Given the description of an element on the screen output the (x, y) to click on. 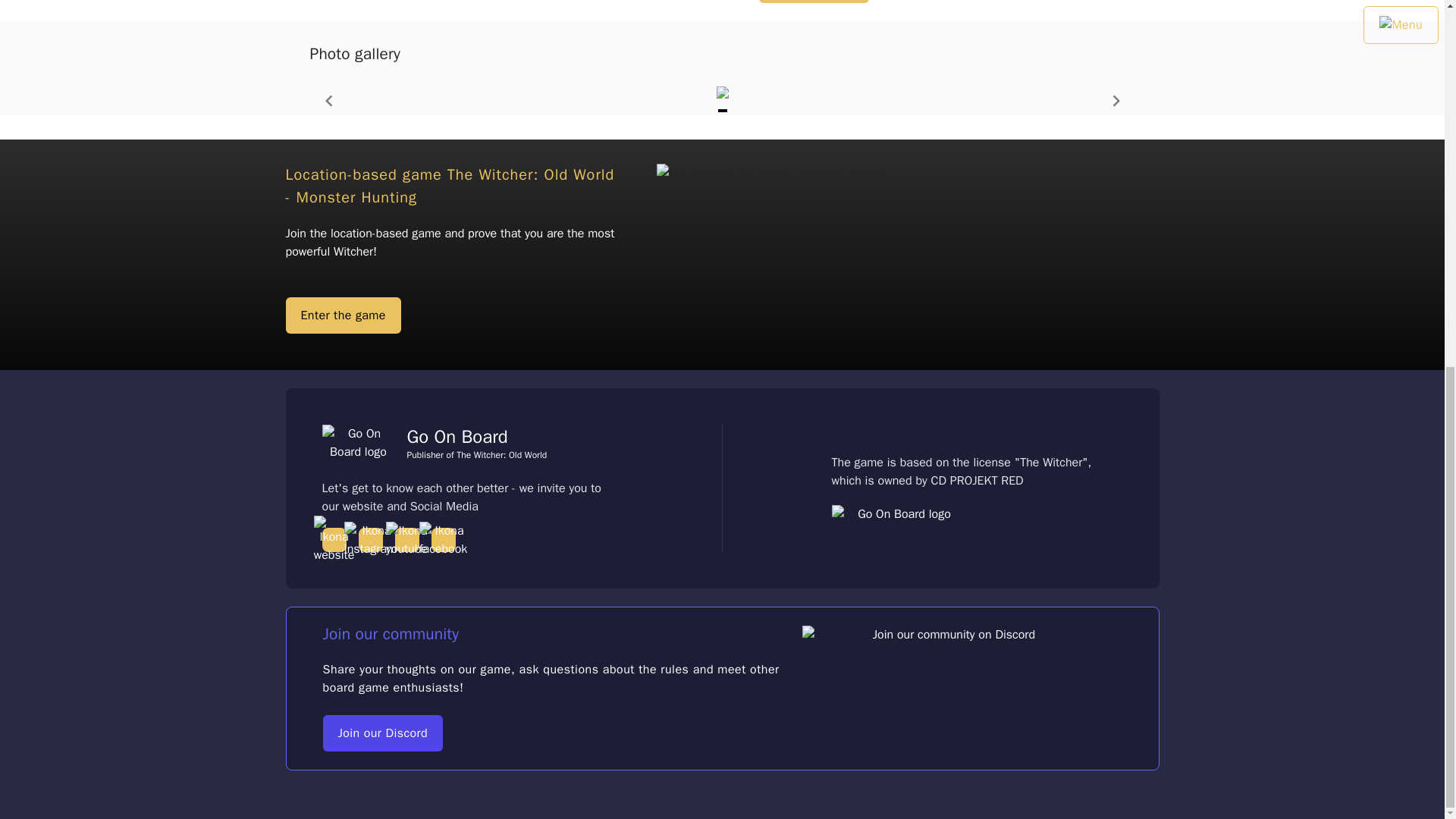
Enter the game (342, 315)
Join our Discord (383, 732)
Where to buy? (812, 1)
